Given the description of an element on the screen output the (x, y) to click on. 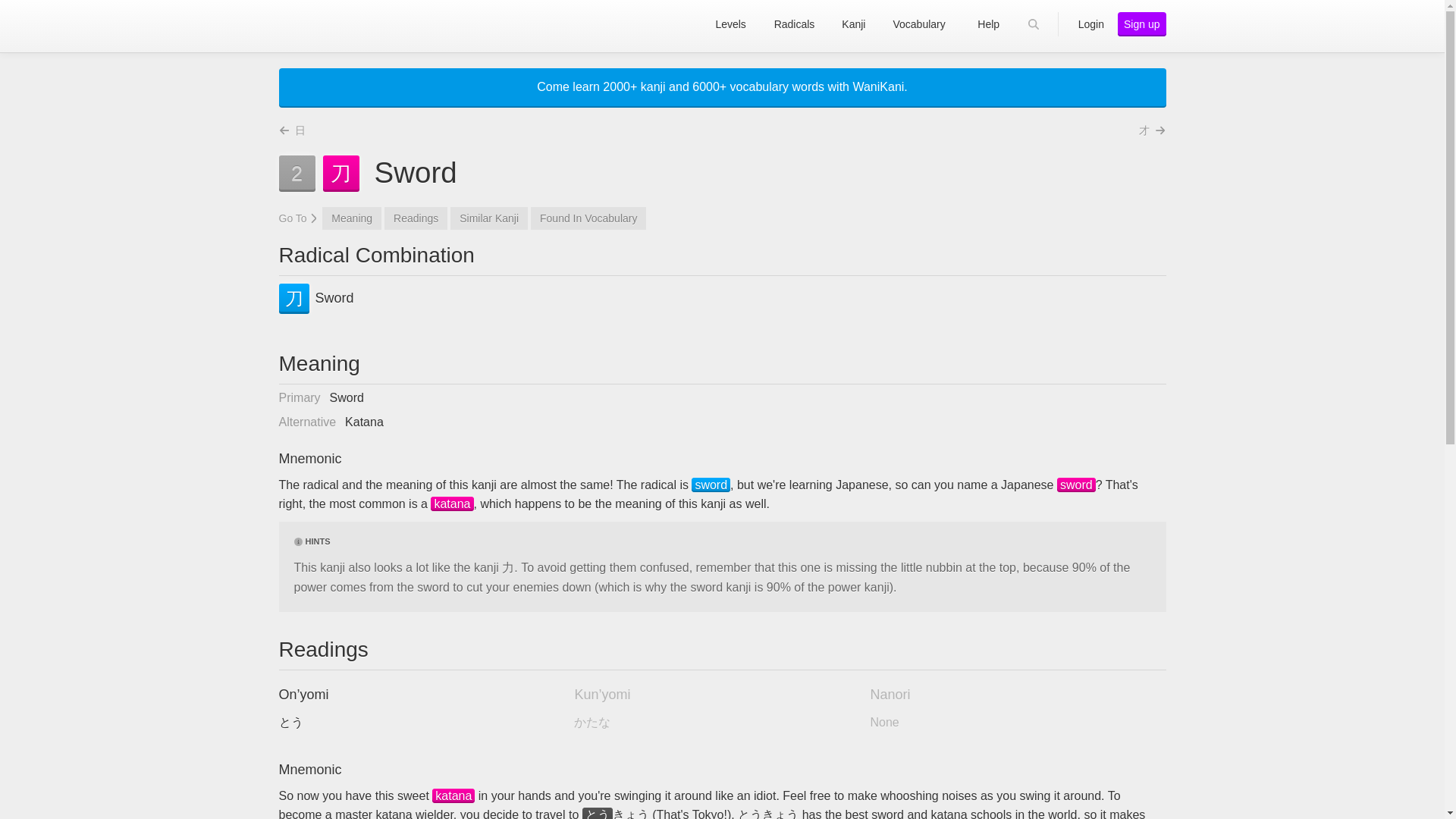
Kanji (1076, 484)
Reading (597, 813)
Levels (730, 24)
Radical (710, 484)
Kanji (453, 795)
Sword (316, 298)
Kanji (451, 503)
WaniKani (337, 24)
